Given the description of an element on the screen output the (x, y) to click on. 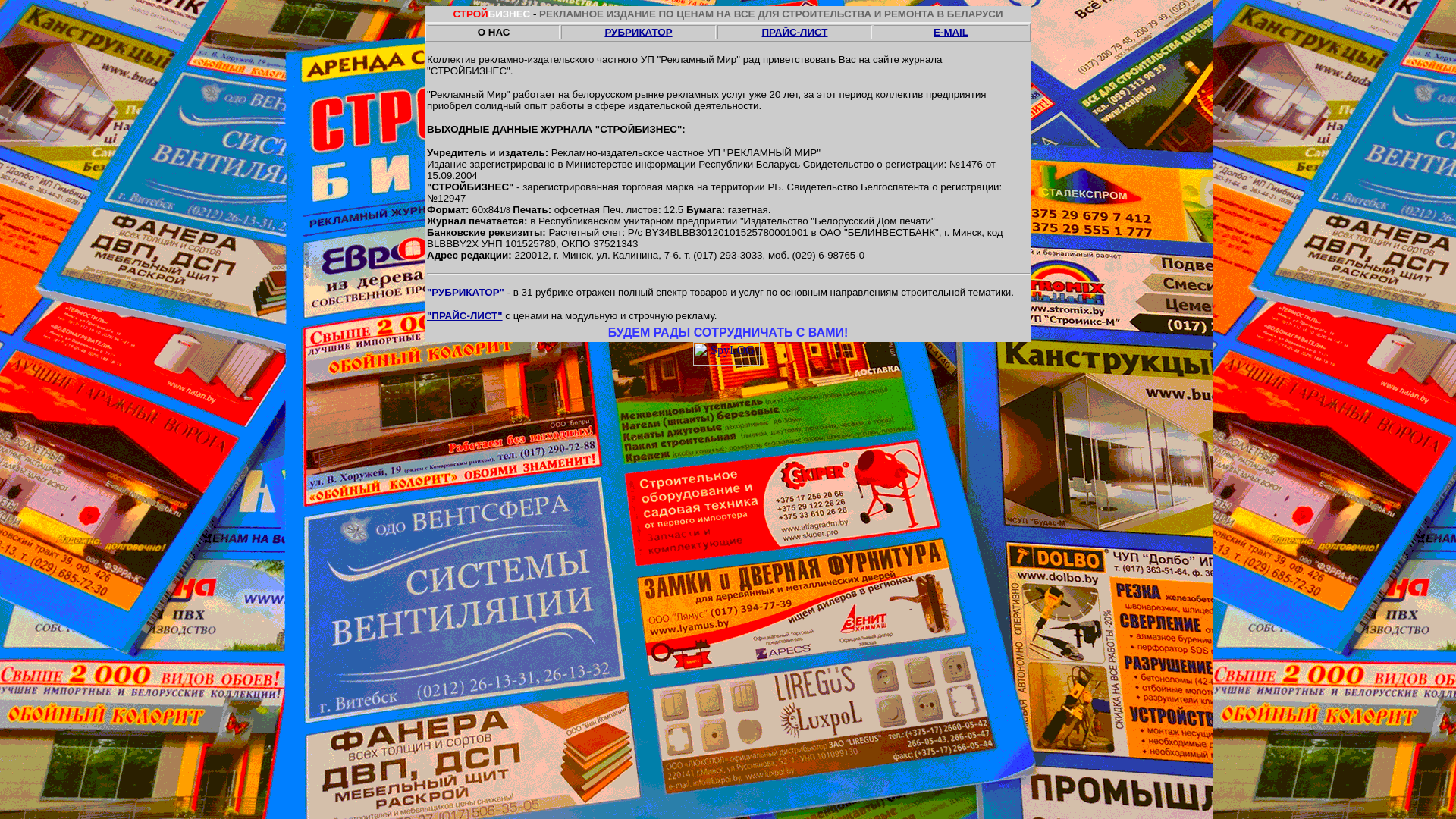
E-MAIL Element type: text (950, 31)
